Given the description of an element on the screen output the (x, y) to click on. 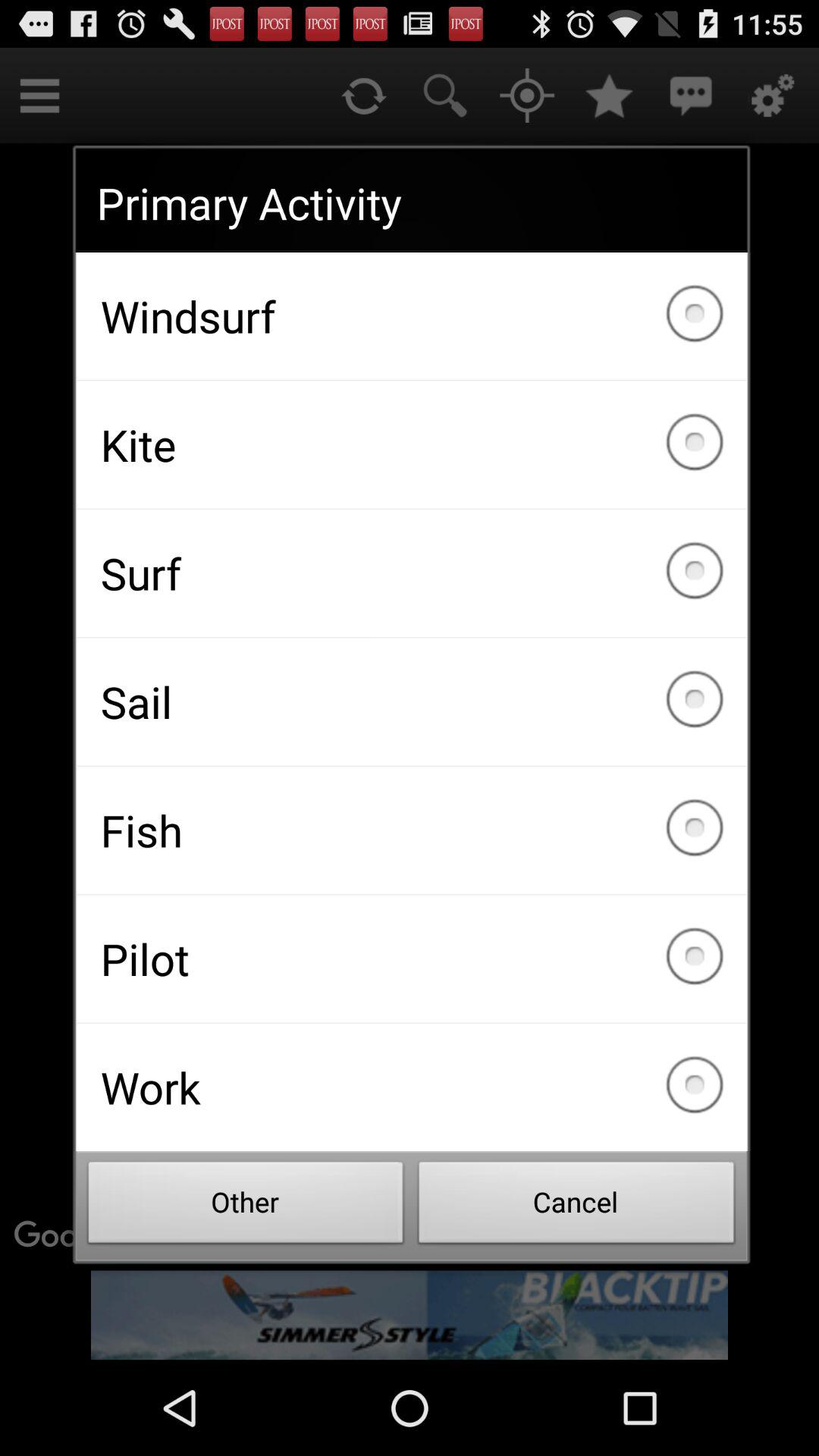
open the item next to the other (576, 1206)
